Given the description of an element on the screen output the (x, y) to click on. 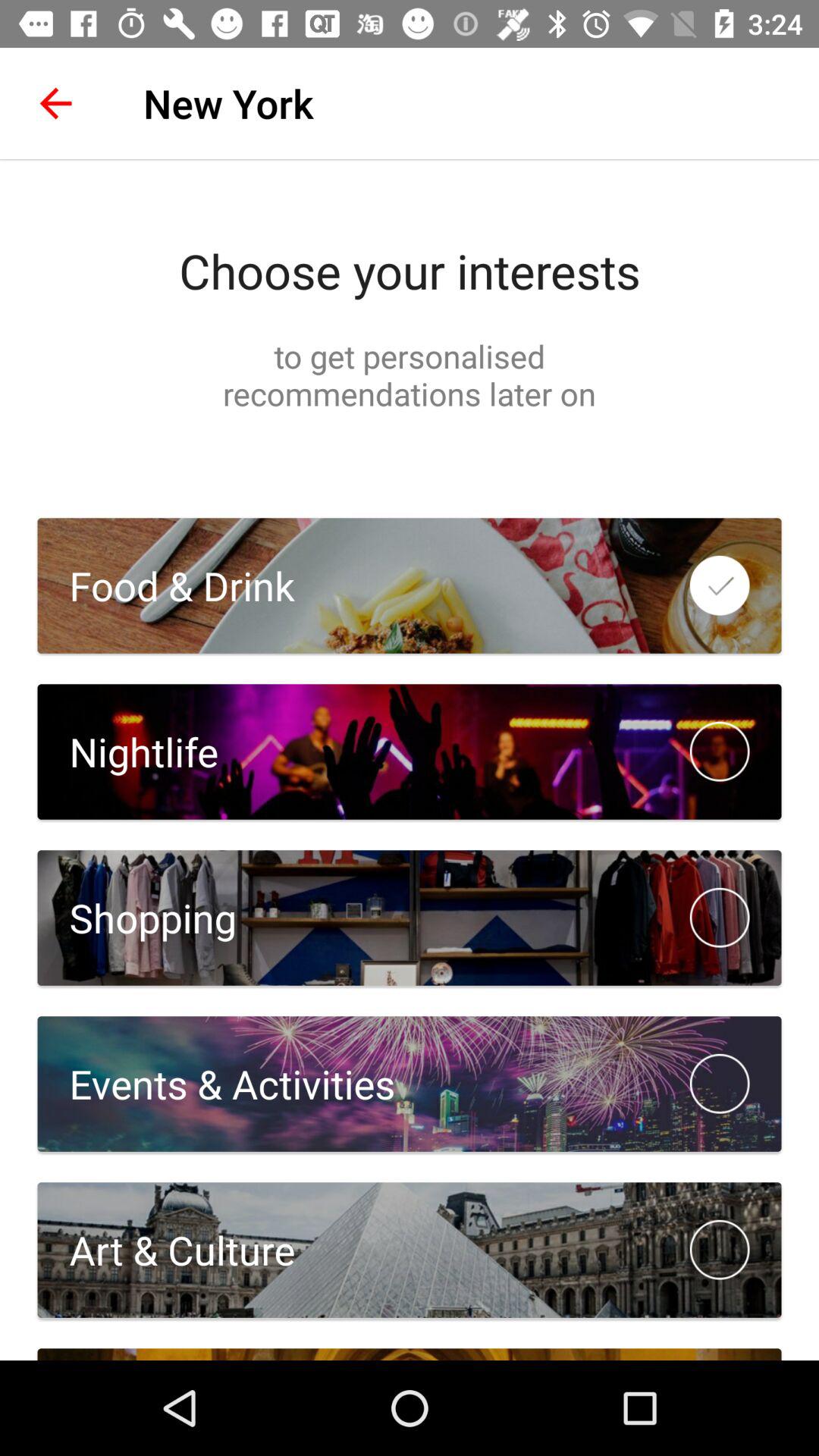
choose to get personalised icon (409, 374)
